Given the description of an element on the screen output the (x, y) to click on. 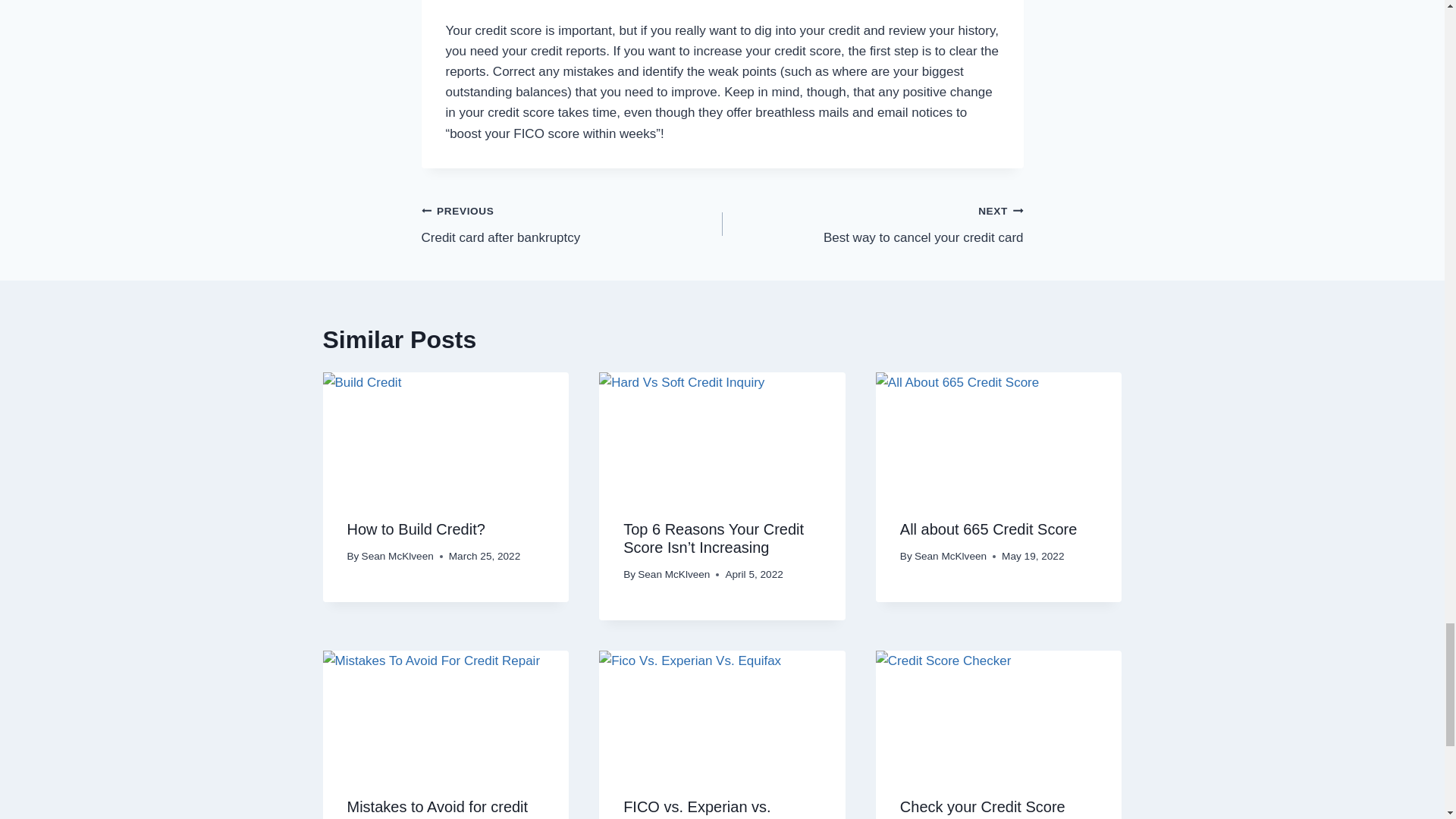
Fico Vs. Experian Vs. Equifax 11 (721, 711)
How To Build Credit? 7 (446, 433)
All about 665 Credit Score (988, 528)
FICO vs. Experian vs. Equifax (697, 808)
All About 665 Credit Score 9 (999, 433)
How to Build Credit? (415, 528)
Mistakes to Avoid for credit repair (437, 808)
Check your Credit Score (982, 806)
